Given the description of an element on the screen output the (x, y) to click on. 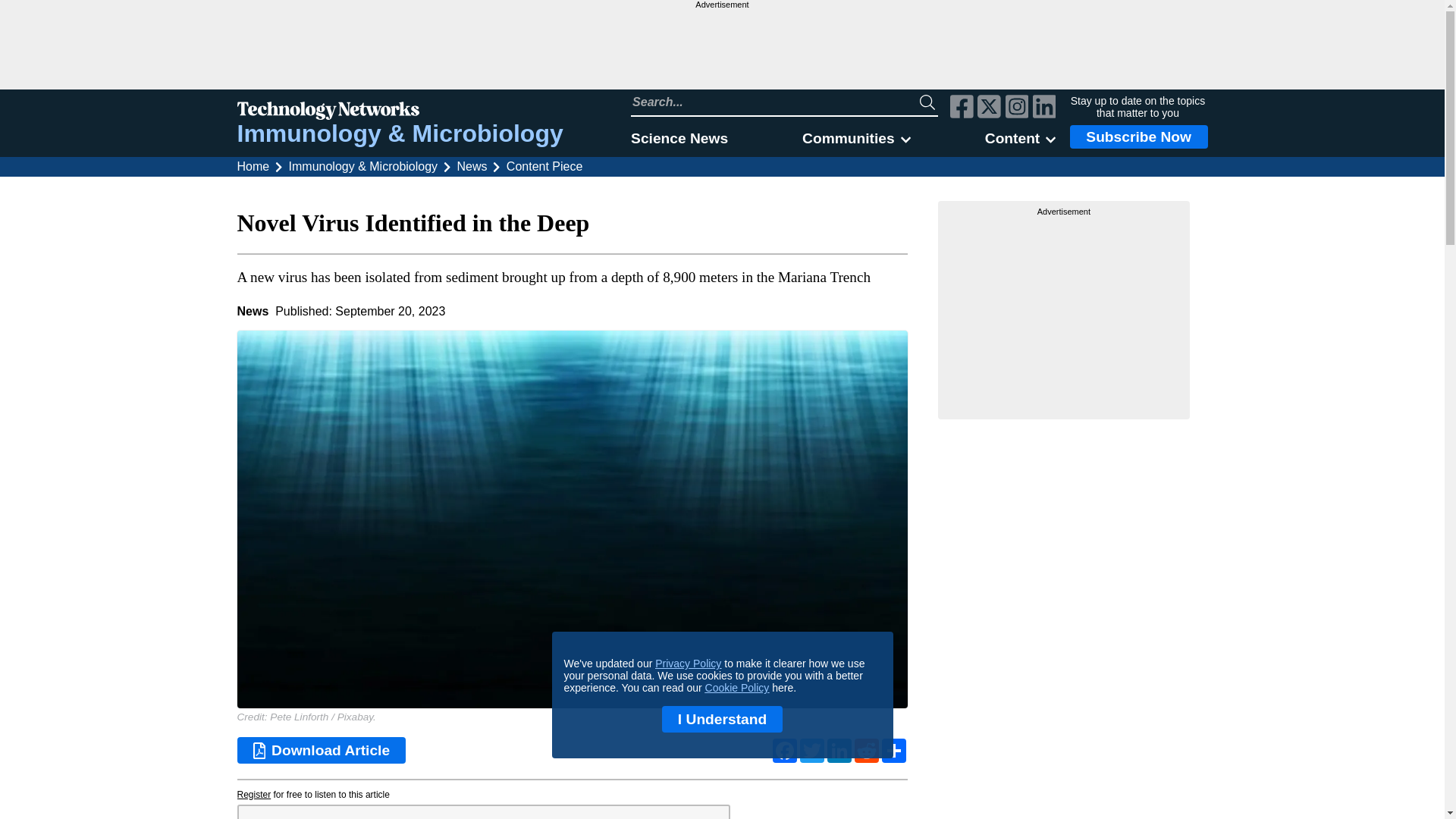
Search Technology Networks website input field (775, 102)
3rd party ad content (721, 49)
Privacy Policy (687, 663)
Cookie Policy (737, 687)
3rd party ad content (1063, 312)
I Understand (722, 718)
Technology Networks logo (398, 112)
